Given the description of an element on the screen output the (x, y) to click on. 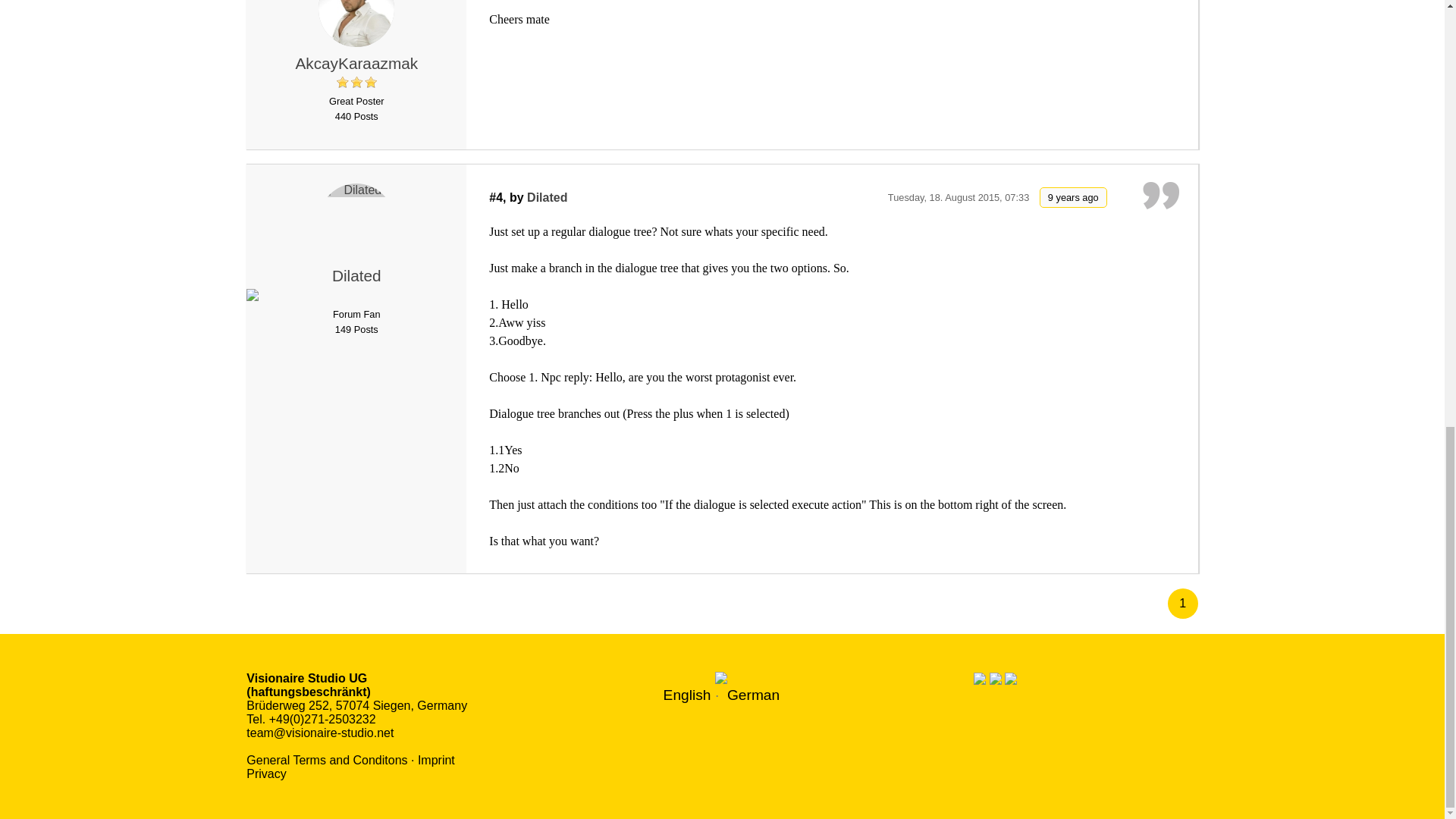
Dilated (547, 196)
AkcayKaraazmak (356, 63)
Dilated (356, 221)
AkcayKaraazmak (356, 23)
AkcayKaraazmak (356, 63)
Quote (1160, 2)
